Given the description of an element on the screen output the (x, y) to click on. 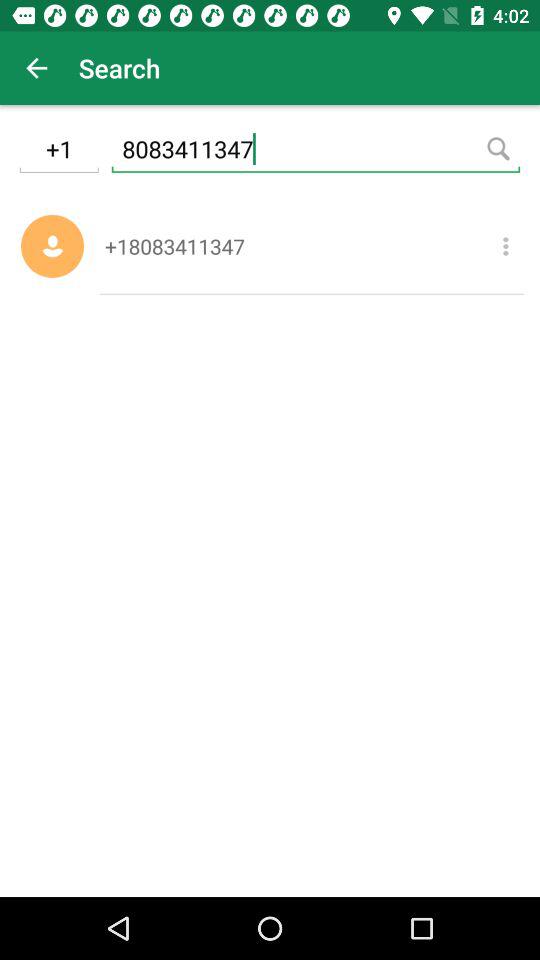
select the icon next to 8083411347 item (58, 151)
